Given the description of an element on the screen output the (x, y) to click on. 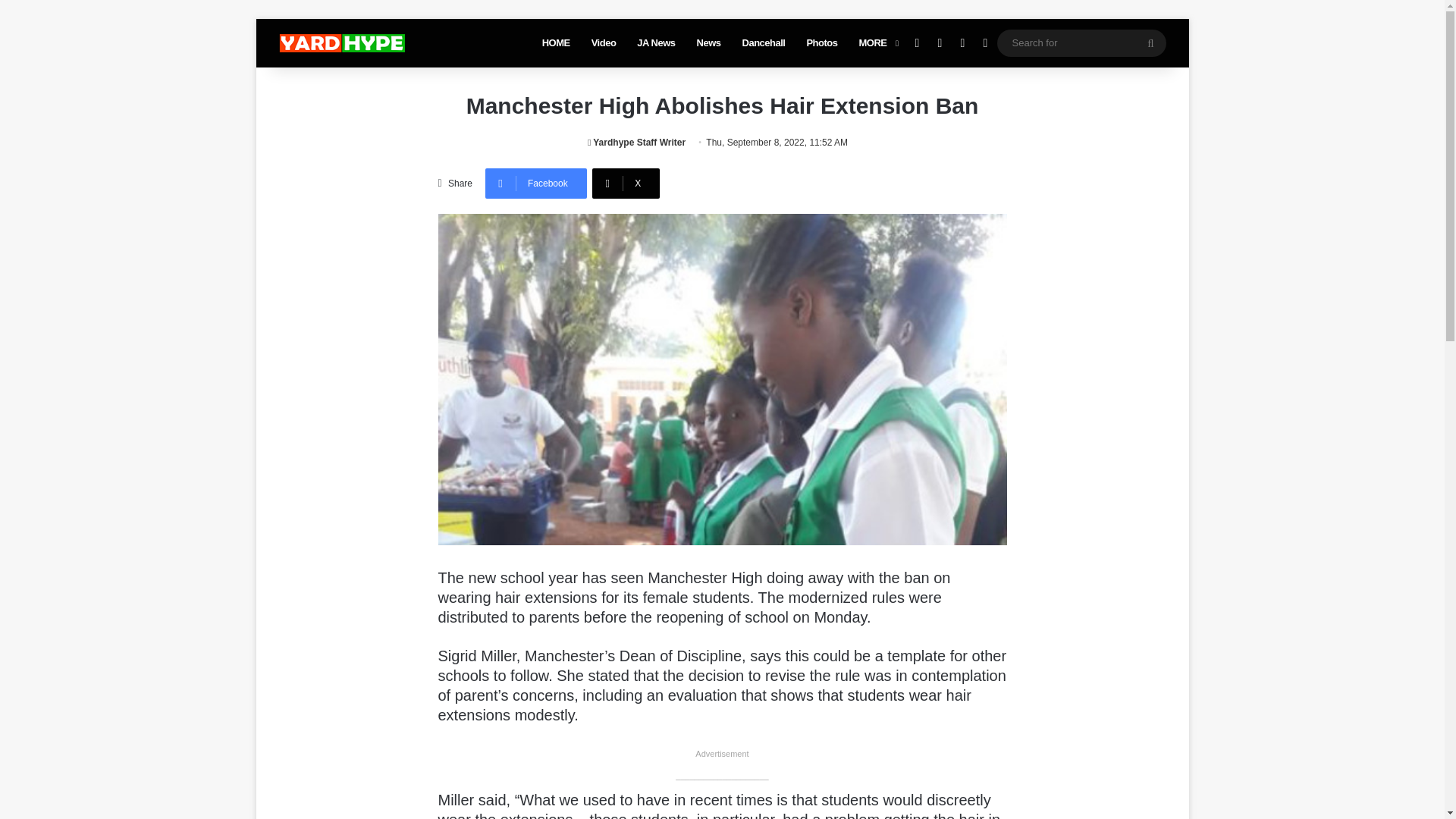
YARDHYPE (341, 43)
Facebook (535, 183)
Yardhype Staff Writer (636, 142)
Facebook (535, 183)
Search for (1080, 42)
Yardhype Staff Writer (636, 142)
Photos (820, 42)
JA News (655, 42)
News (708, 42)
X (625, 183)
